Given the description of an element on the screen output the (x, y) to click on. 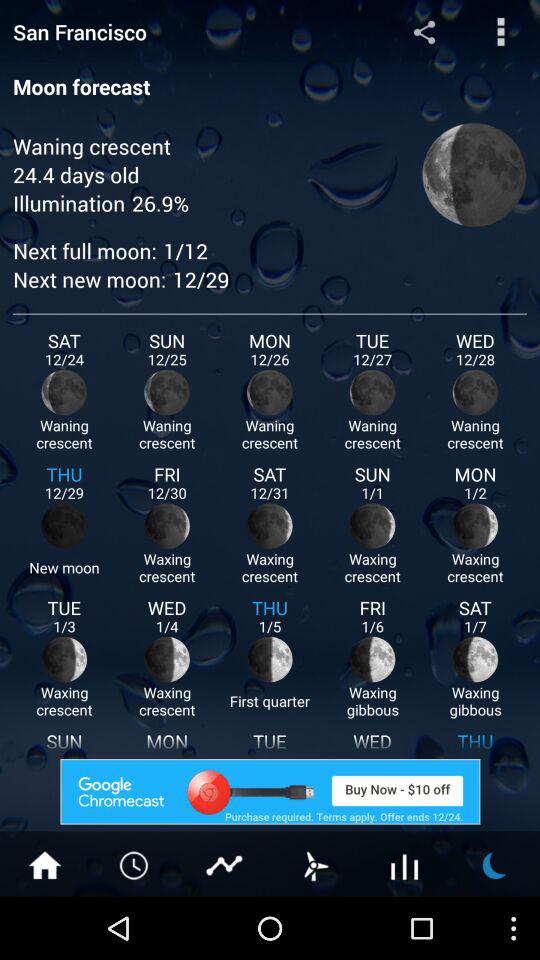
menu (500, 31)
